Given the description of an element on the screen output the (x, y) to click on. 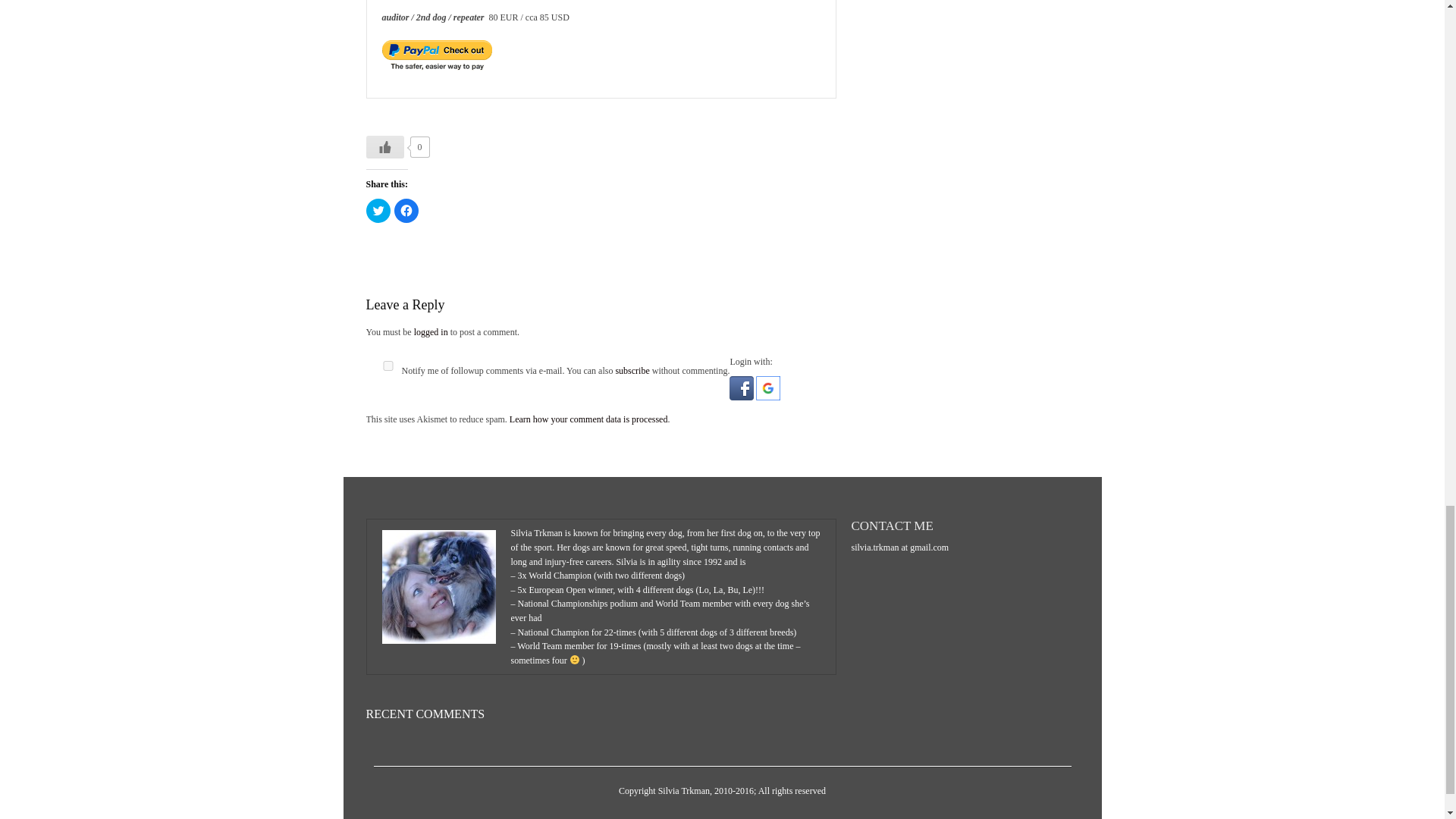
Connect with Facebook (742, 397)
Click to share on Facebook (406, 210)
Connect with Google (767, 397)
yes (386, 366)
Click to share on Twitter (377, 210)
